Given the description of an element on the screen output the (x, y) to click on. 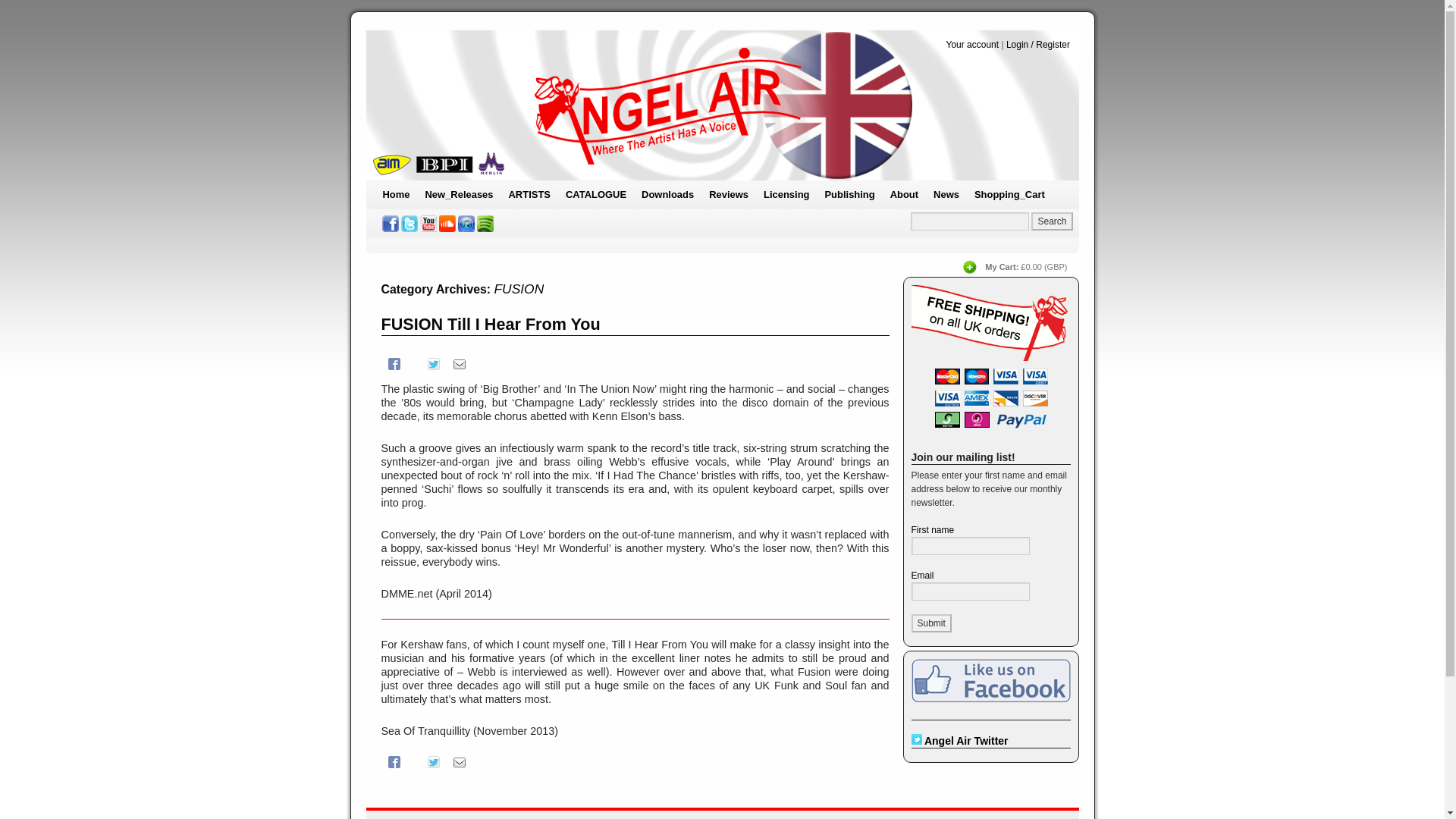
Permalink to FUSION Till I Hear From You (489, 323)
CATALOGUE (595, 194)
Downloads (667, 194)
Reviews (728, 194)
Angel Air SoundCloud (447, 223)
Home (395, 194)
Facebook (393, 761)
Angel Air Facebook (389, 223)
Licensing (785, 194)
Angel Air Twitter (409, 223)
Your account (972, 44)
Publishing (849, 194)
Spotify (485, 223)
Angel Air Records (721, 105)
iTunes (465, 223)
